Given the description of an element on the screen output the (x, y) to click on. 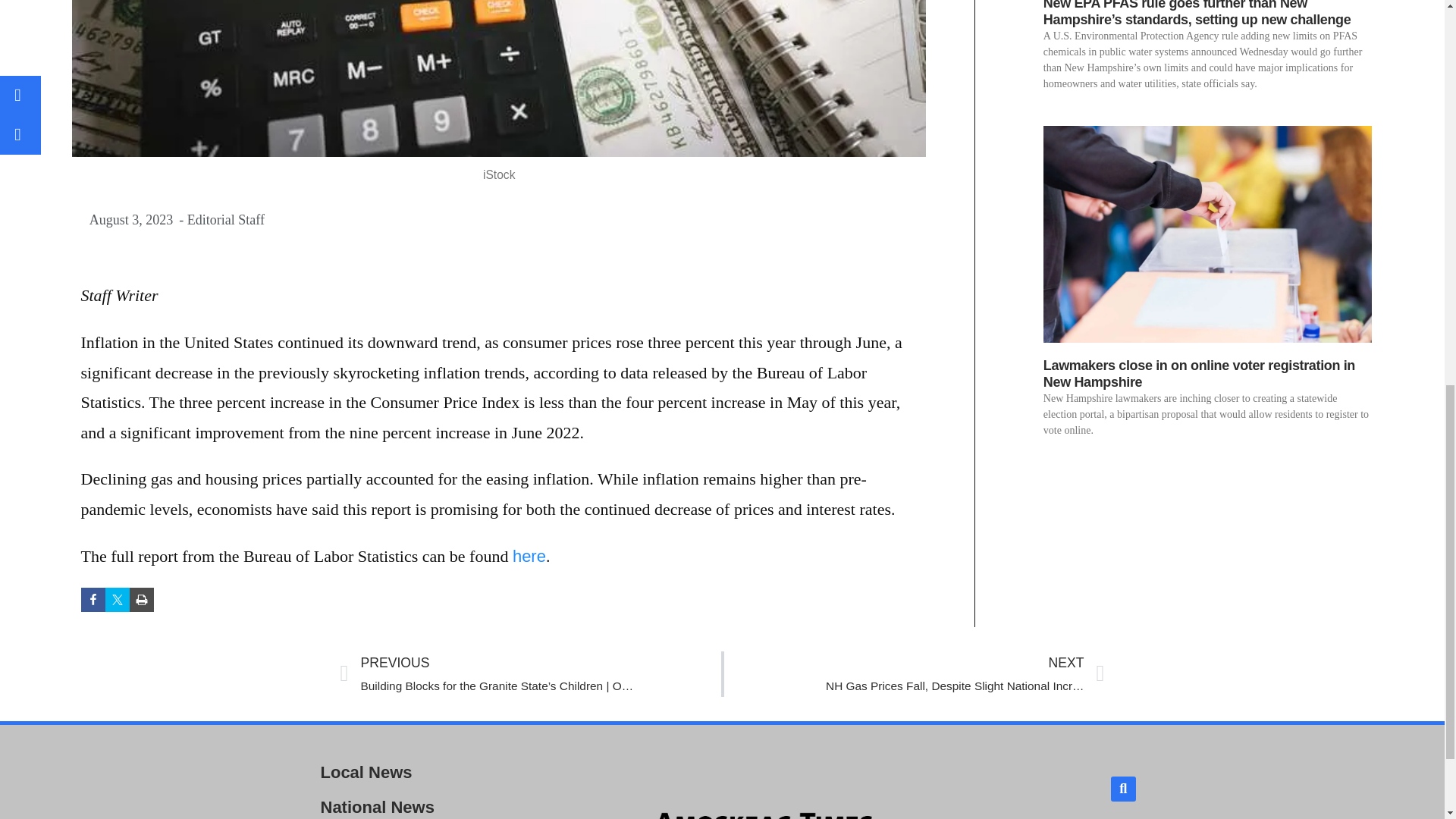
National News (438, 804)
Share on Facebook (92, 599)
here (529, 556)
Share on Twitter (913, 673)
Print this Page (116, 599)
Local News (140, 599)
